Given the description of an element on the screen output the (x, y) to click on. 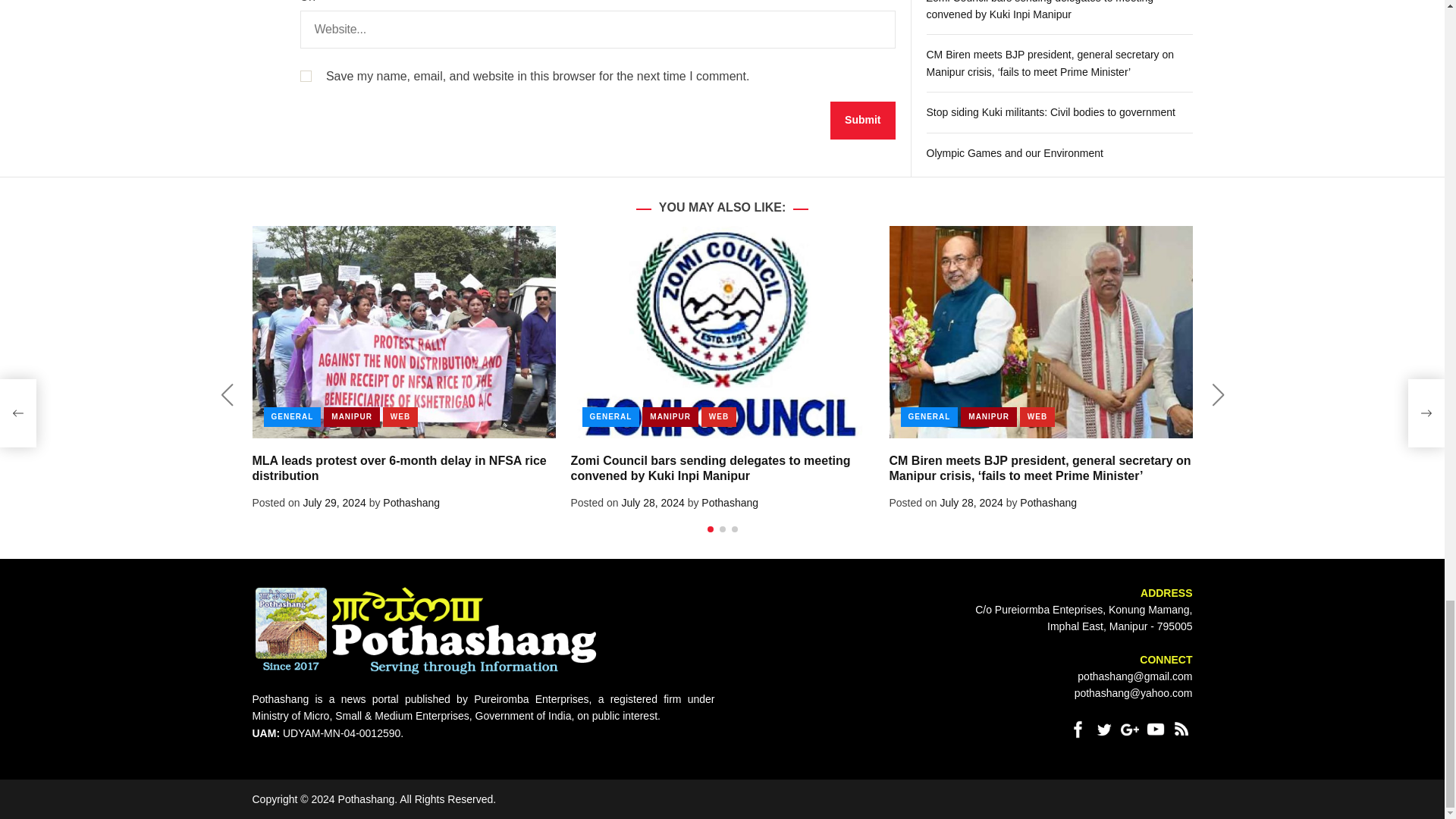
yes (305, 75)
Submit (862, 120)
Submit (862, 120)
